Given the description of an element on the screen output the (x, y) to click on. 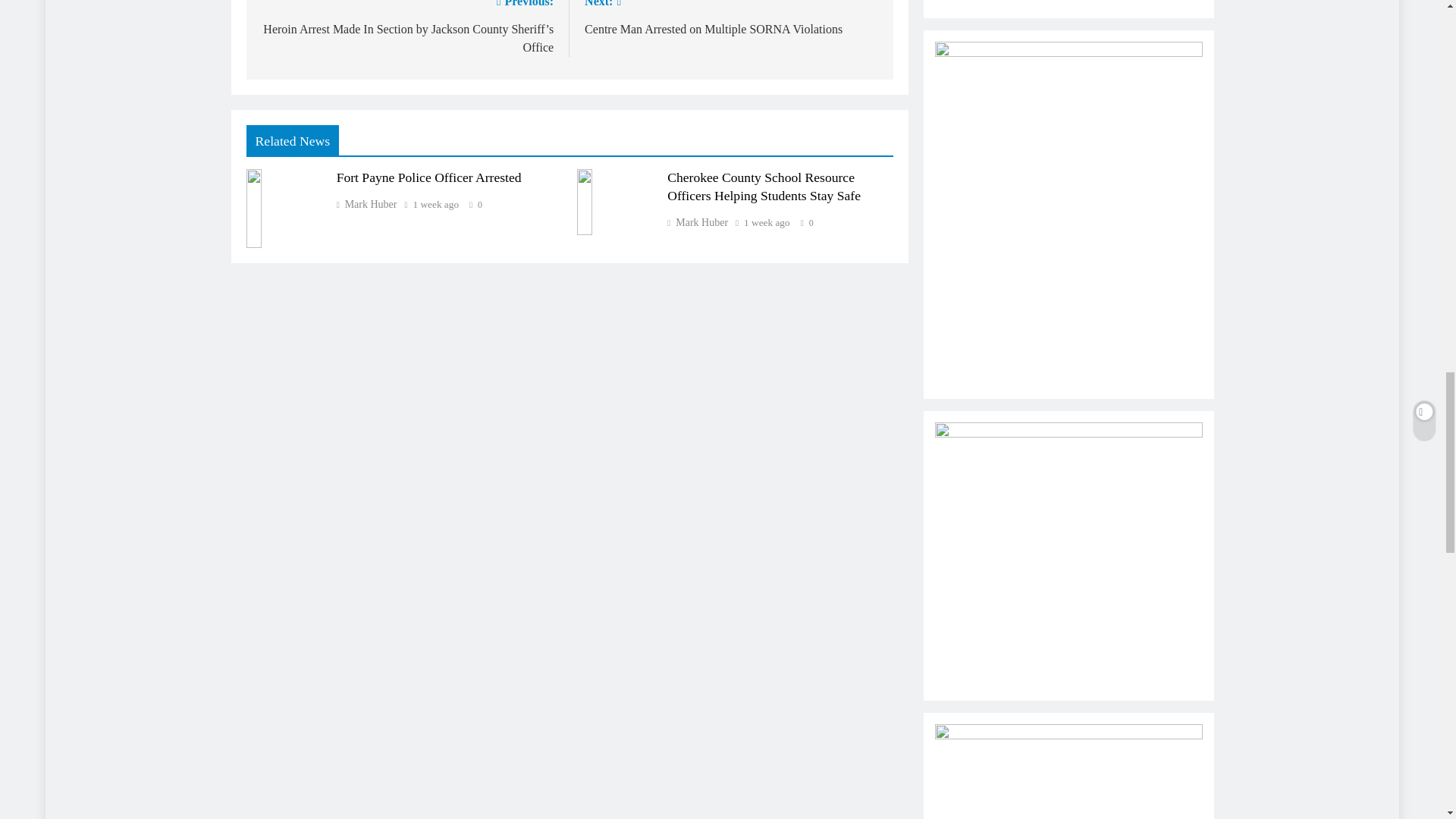
Fort Payne Police Officer Arrested (428, 177)
1 week ago (767, 222)
1 week ago (731, 18)
Mark Huber (436, 204)
Mark Huber (697, 222)
